Given the description of an element on the screen output the (x, y) to click on. 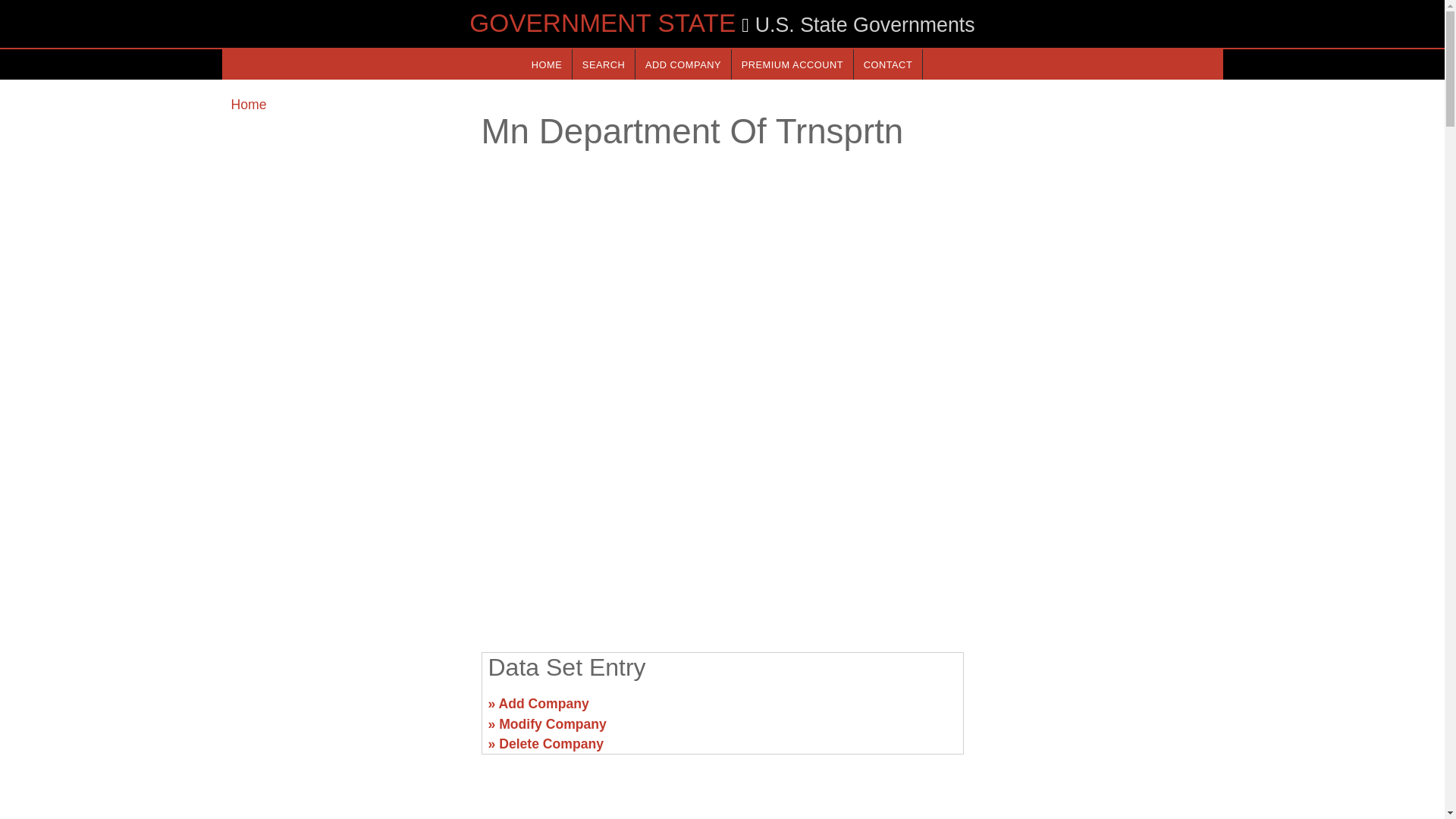
CONTACT (887, 64)
HOME (546, 64)
Home (248, 104)
ADD COMPANY (682, 64)
PREMIUM ACCOUNT (792, 64)
Search in this webseite. (603, 64)
Premium account (792, 64)
Add a new company (682, 64)
SEARCH (603, 64)
